Given the description of an element on the screen output the (x, y) to click on. 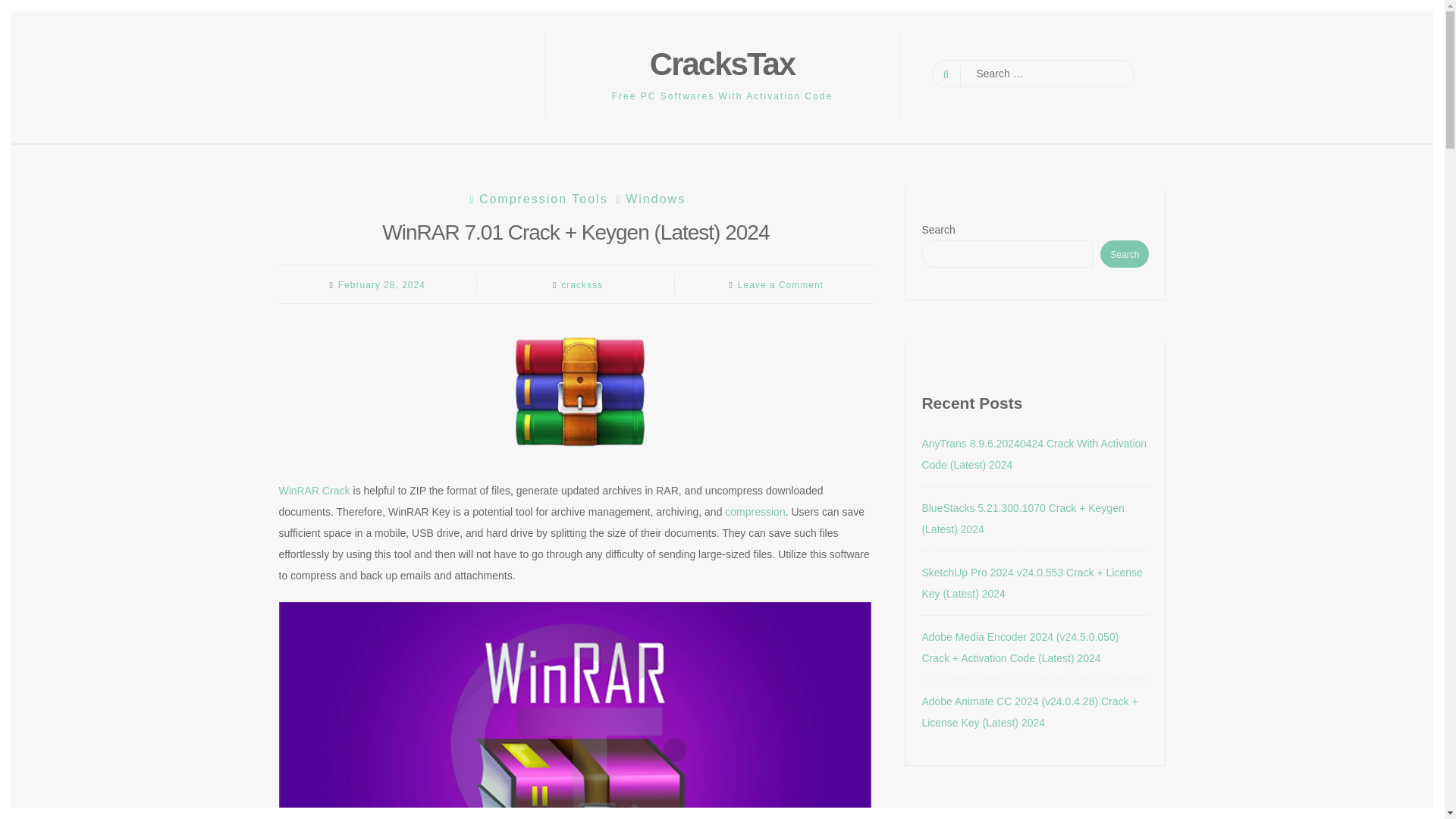
WinRAR Crack (314, 490)
cracksss (581, 285)
Windows (648, 198)
Compression Tools (536, 198)
CracksTax (721, 63)
compression (754, 511)
Search (24, 9)
